Given the description of an element on the screen output the (x, y) to click on. 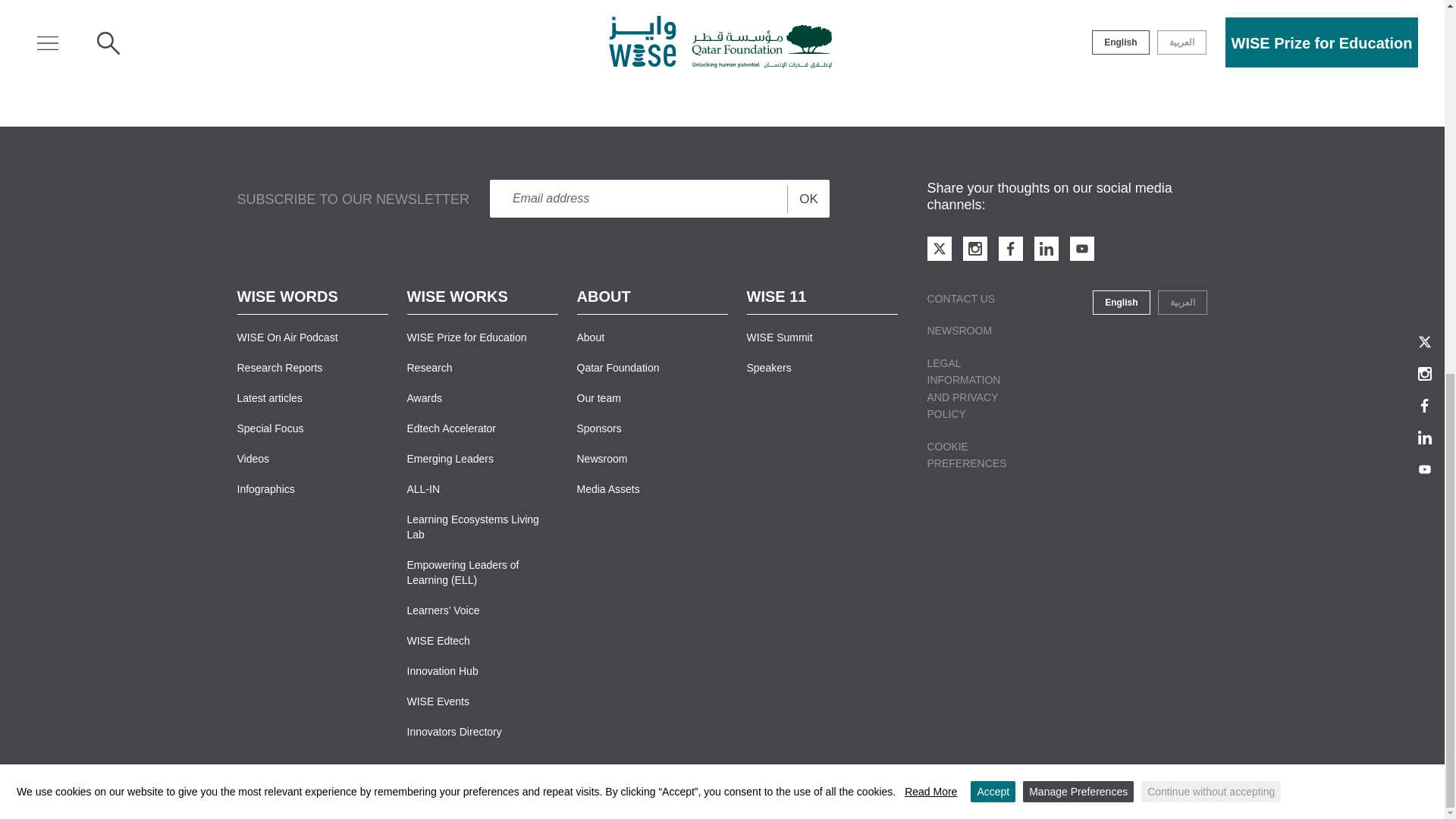
OK (808, 198)
